Given the description of an element on the screen output the (x, y) to click on. 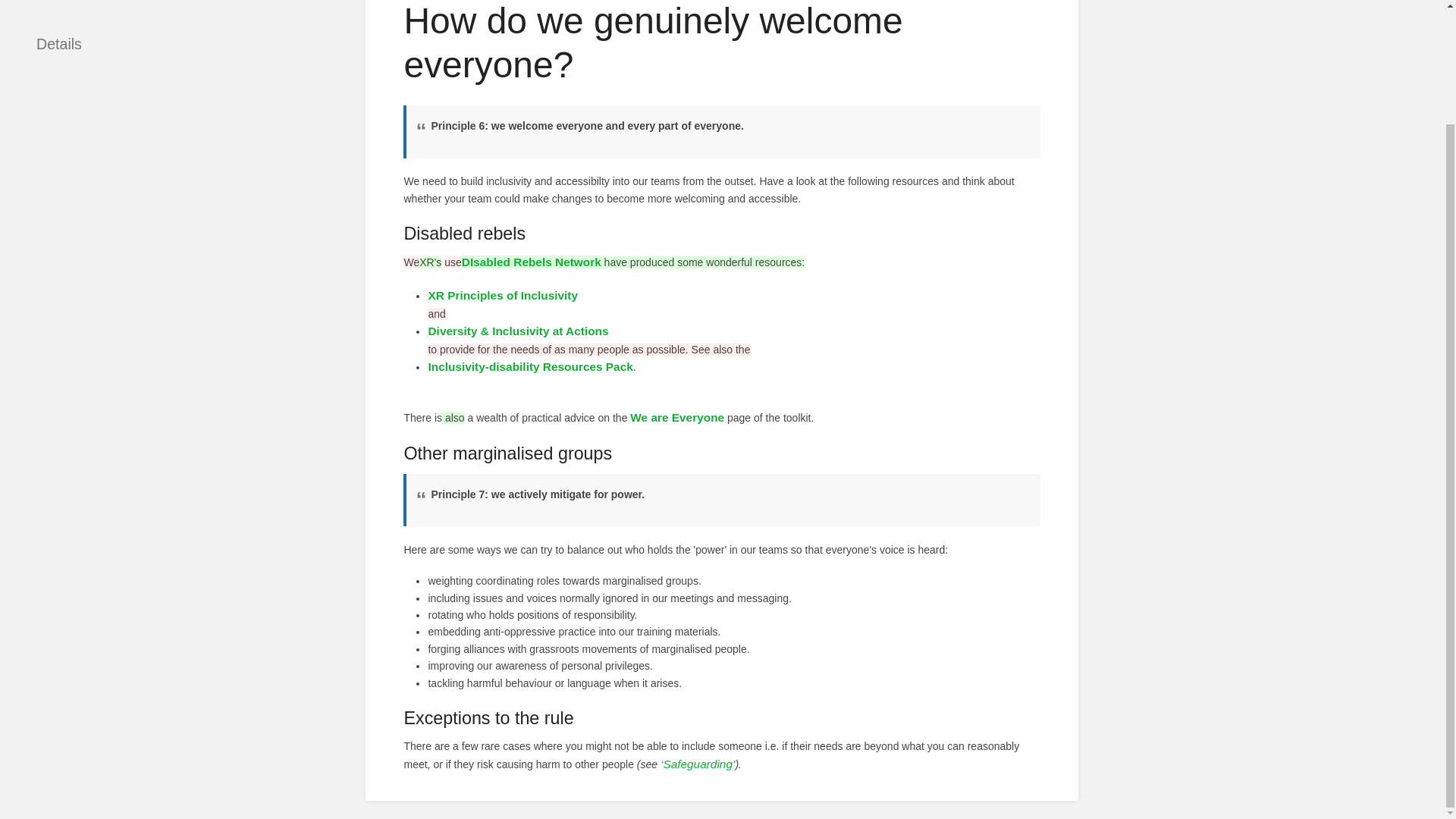
XR Principles of Inclusivity (503, 295)
We are Everyone (676, 417)
Inclusivity-disability Resources Pack (529, 366)
DIsabled Rebels Network (531, 261)
